Given the description of an element on the screen output the (x, y) to click on. 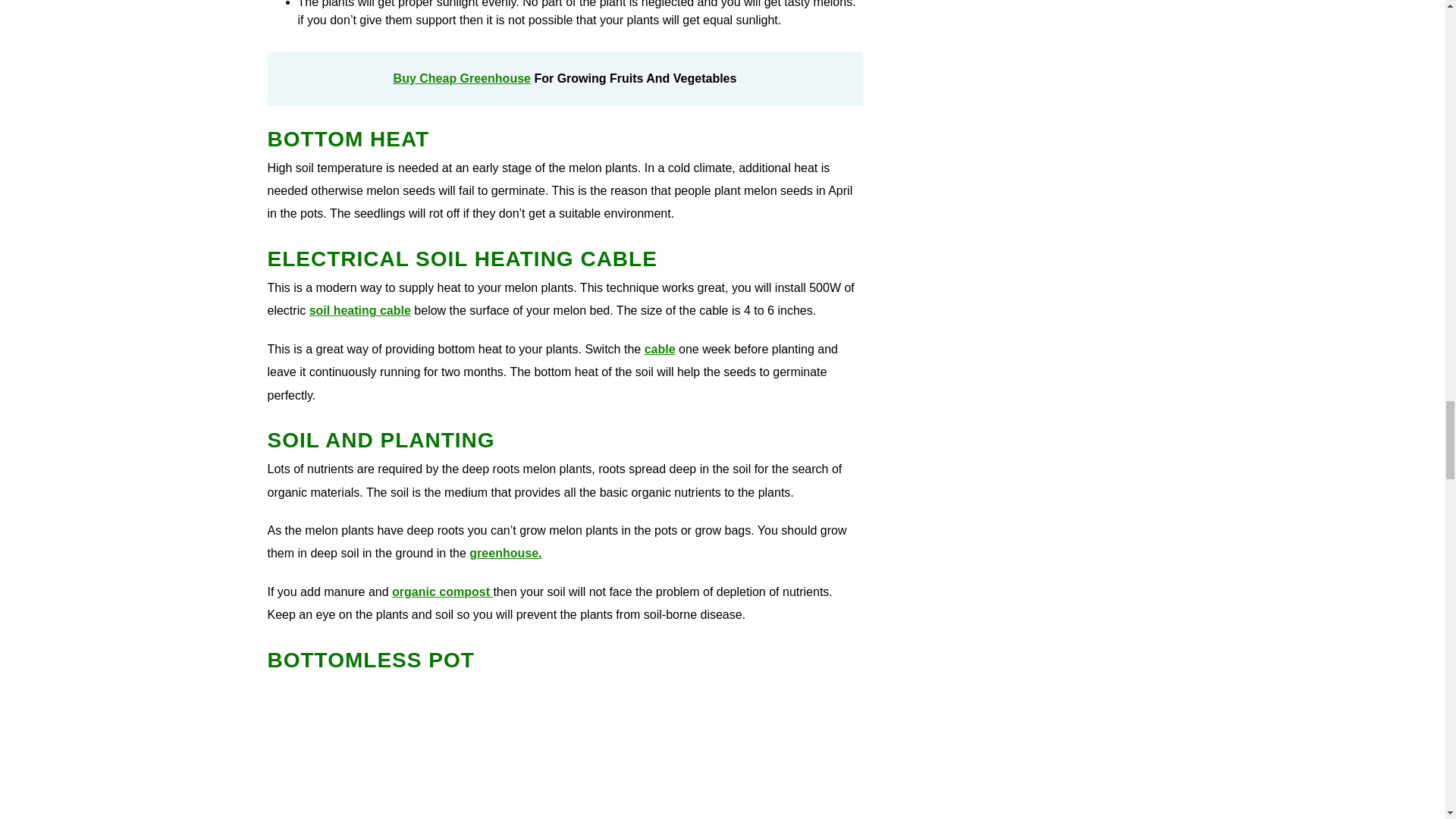
greenhouse. (504, 553)
organic compost (442, 591)
soil heating cable (359, 309)
Buy Cheap Greenhouse (462, 78)
cable (660, 349)
